Given the description of an element on the screen output the (x, y) to click on. 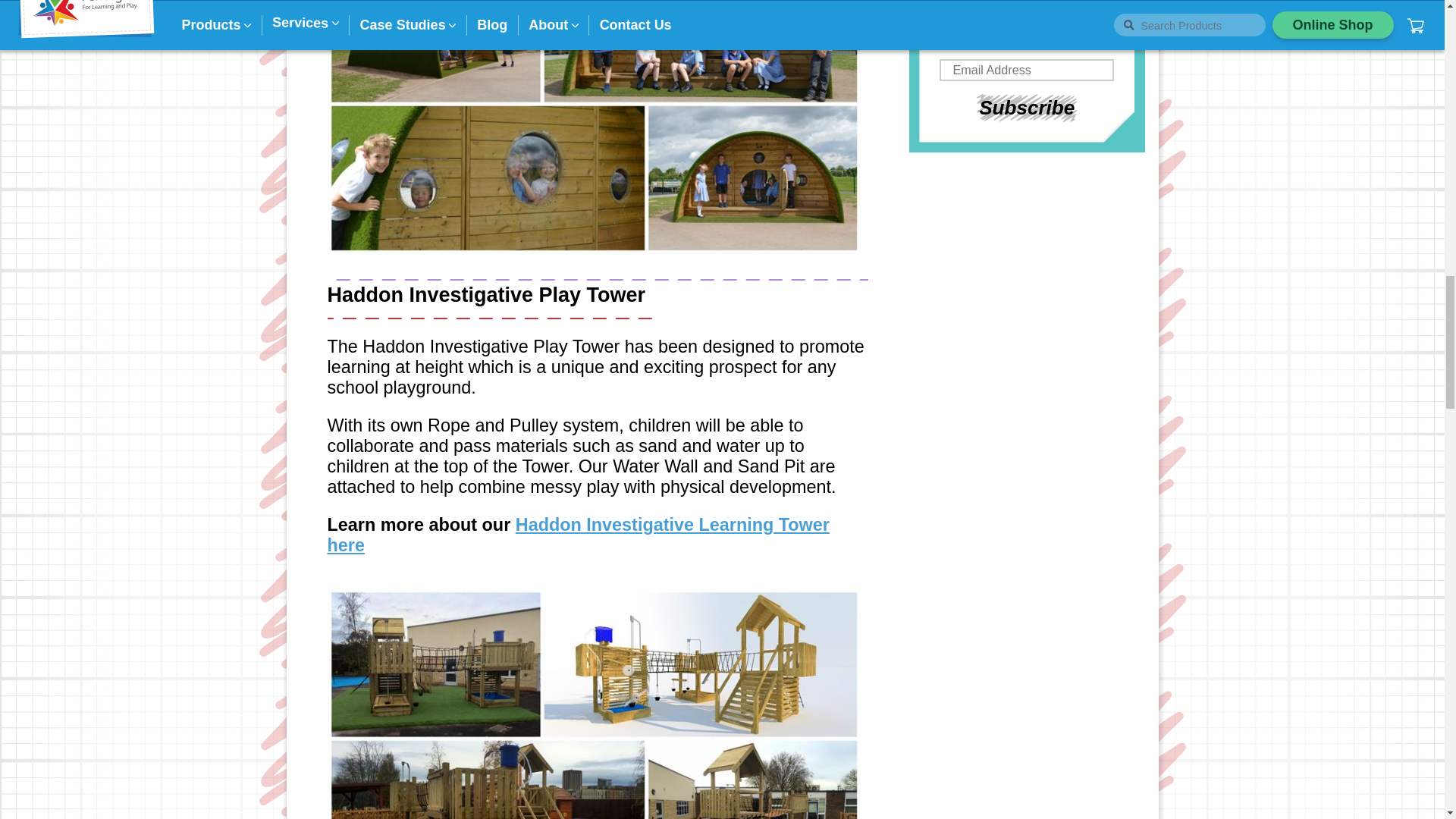
Subscribe (1026, 108)
